Given the description of an element on the screen output the (x, y) to click on. 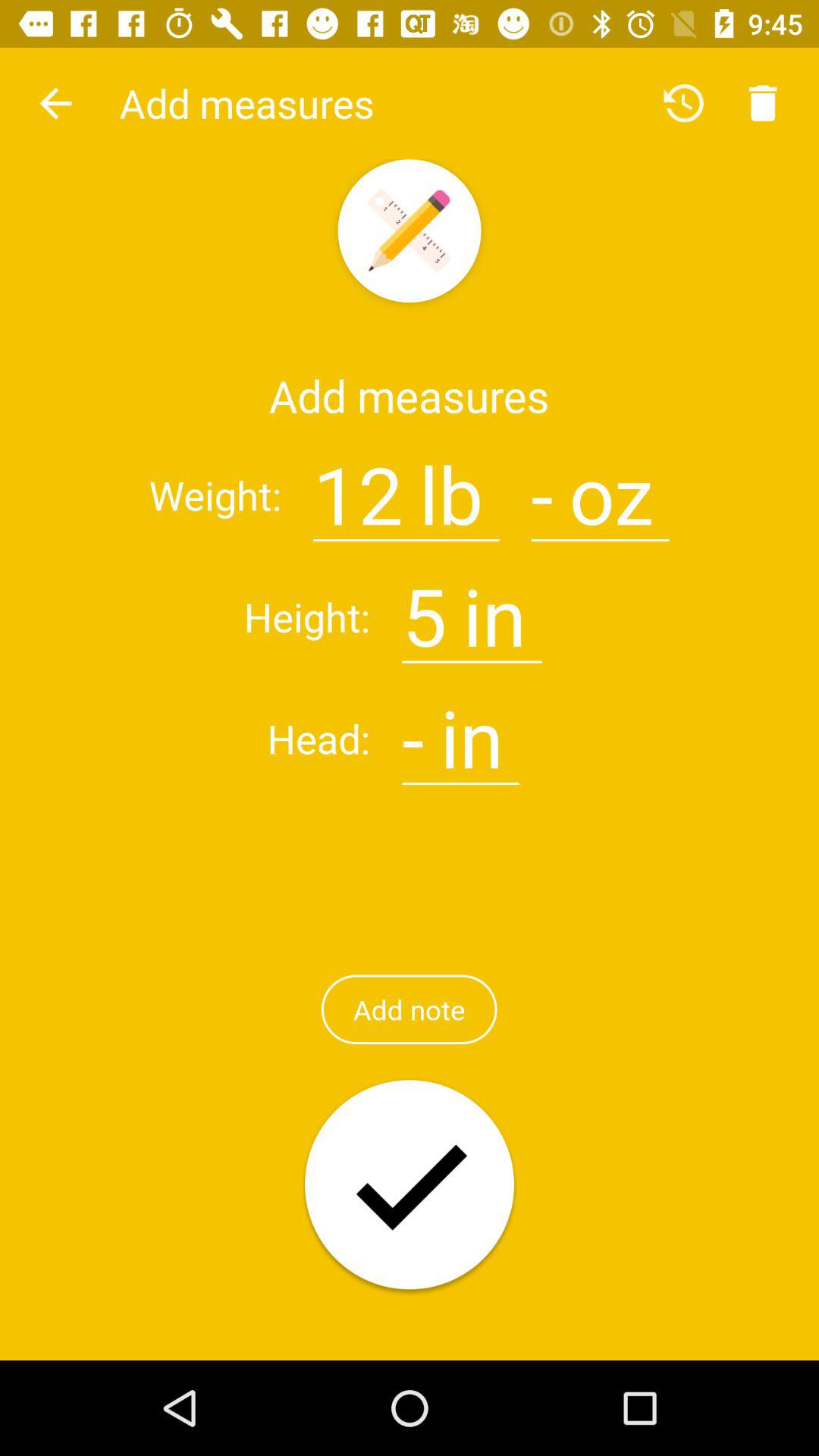
choose to complete (409, 1186)
